Given the description of an element on the screen output the (x, y) to click on. 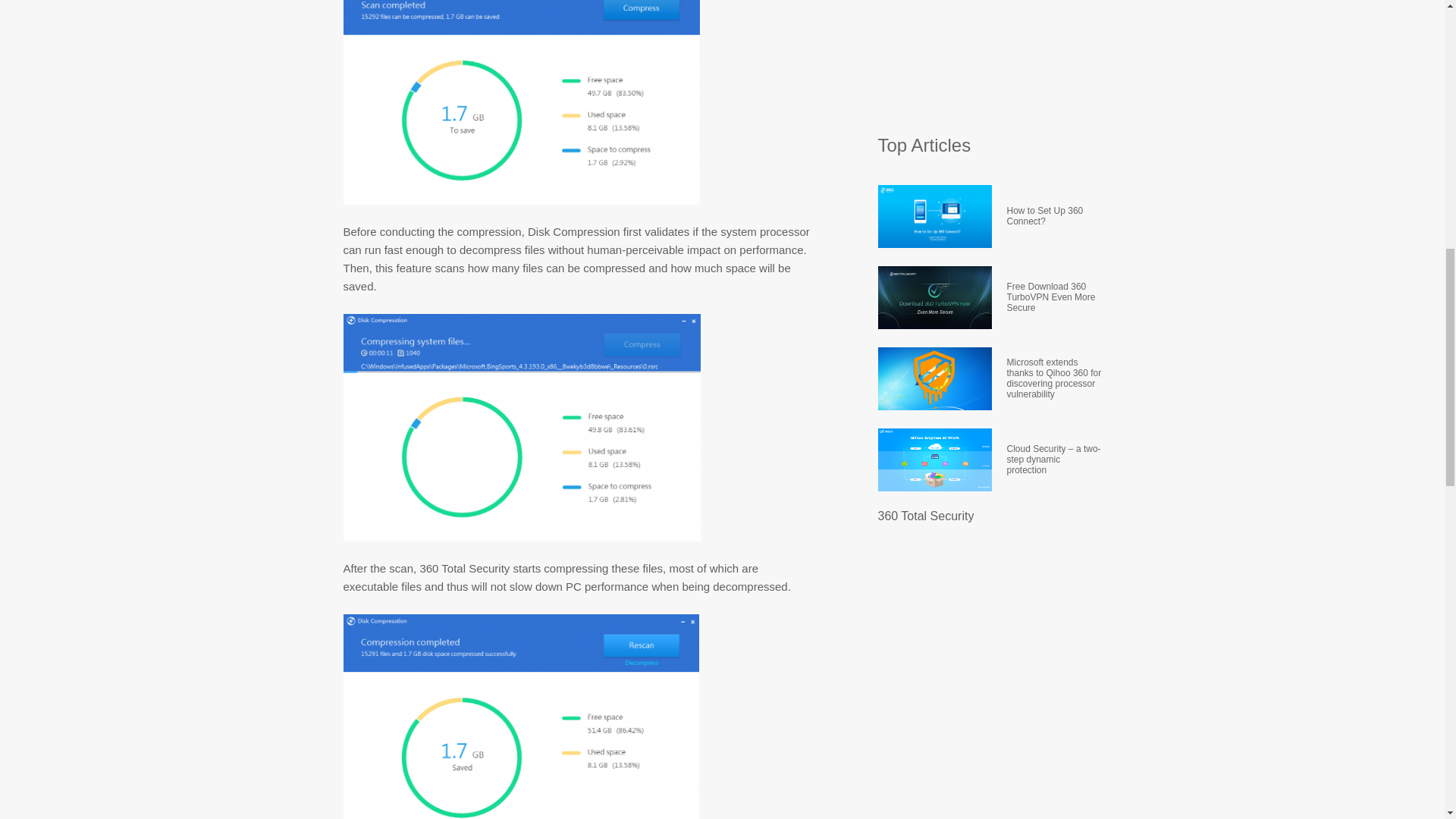
How to Set Up 360 Connect? (1054, 216)
360 Total Security (925, 515)
How to Set Up 360 Connect? (1054, 216)
Free Download 360 TurboVPN Even More Secure (1054, 296)
Free Download 360 TurboVPN Even More Secure (1054, 296)
Advertisement (991, 58)
